Given the description of an element on the screen output the (x, y) to click on. 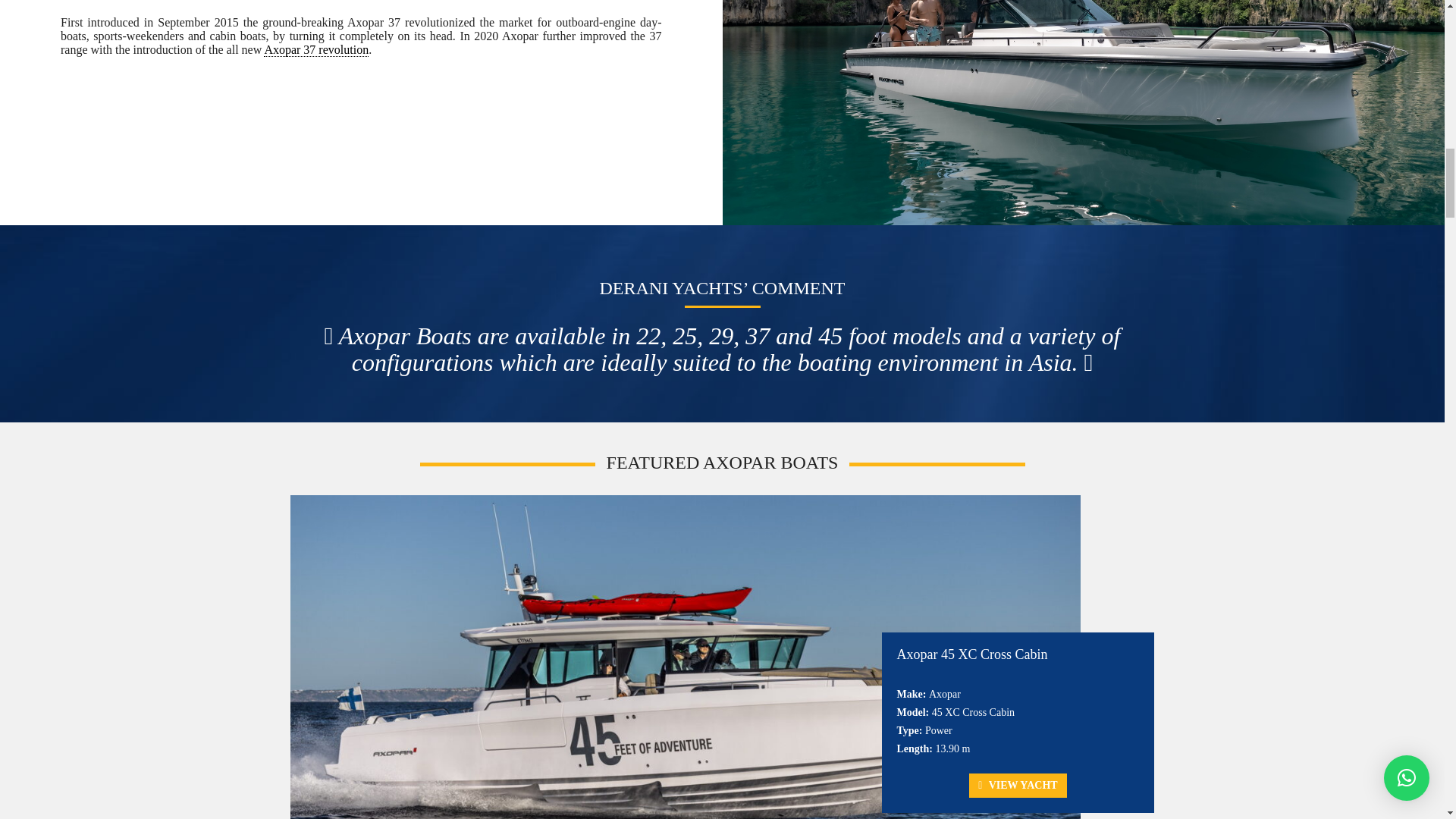
Axopar 37 revolution (315, 49)
Axopar 45 XC Cross Cabin (971, 654)
